Given the description of an element on the screen output the (x, y) to click on. 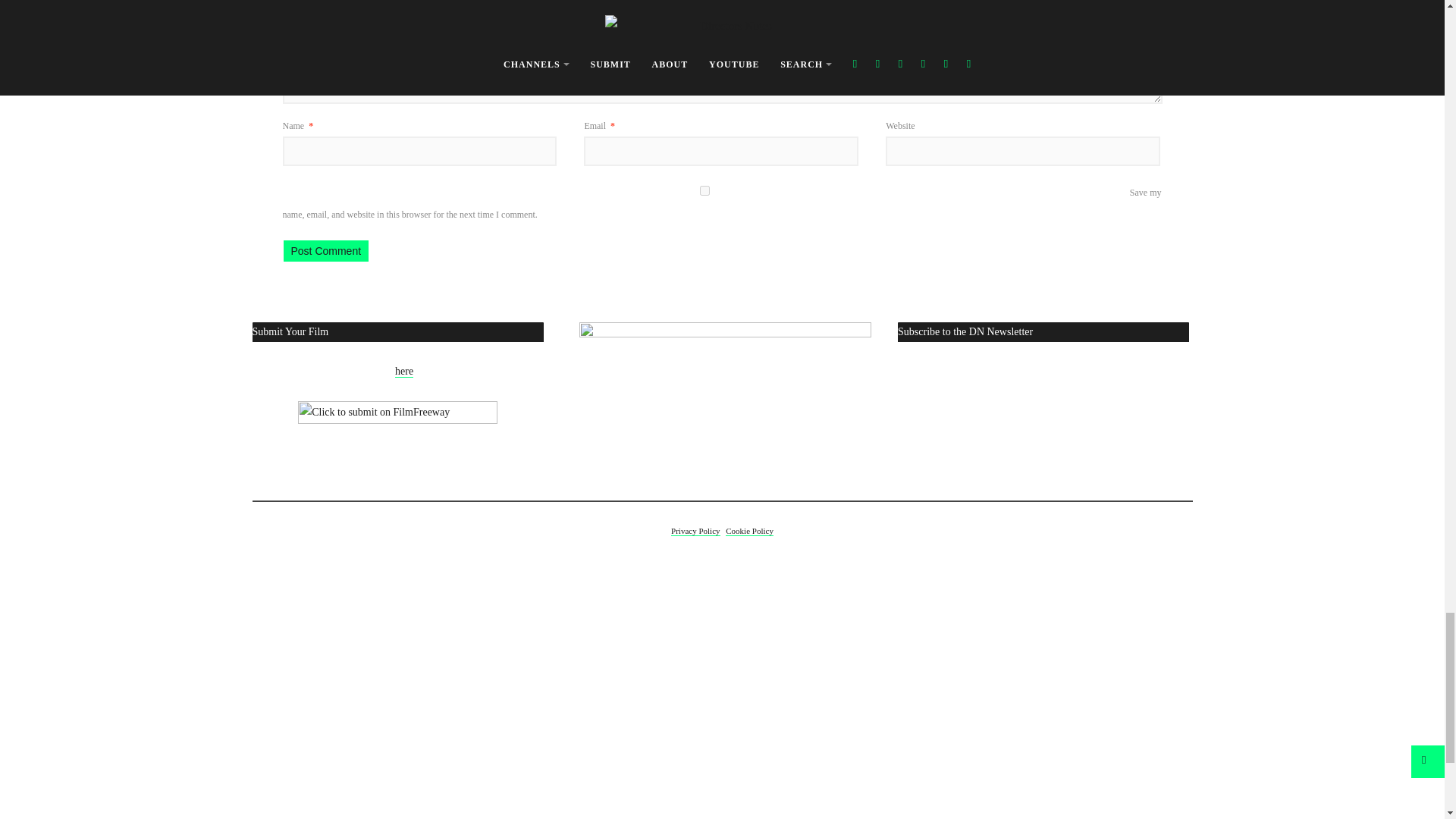
Directors Notes on YouTube (724, 404)
Click to submit on FilmFreeway (397, 419)
yes (704, 190)
Post Comment (326, 250)
Click to submit on FilmFreeway (397, 419)
